Given the description of an element on the screen output the (x, y) to click on. 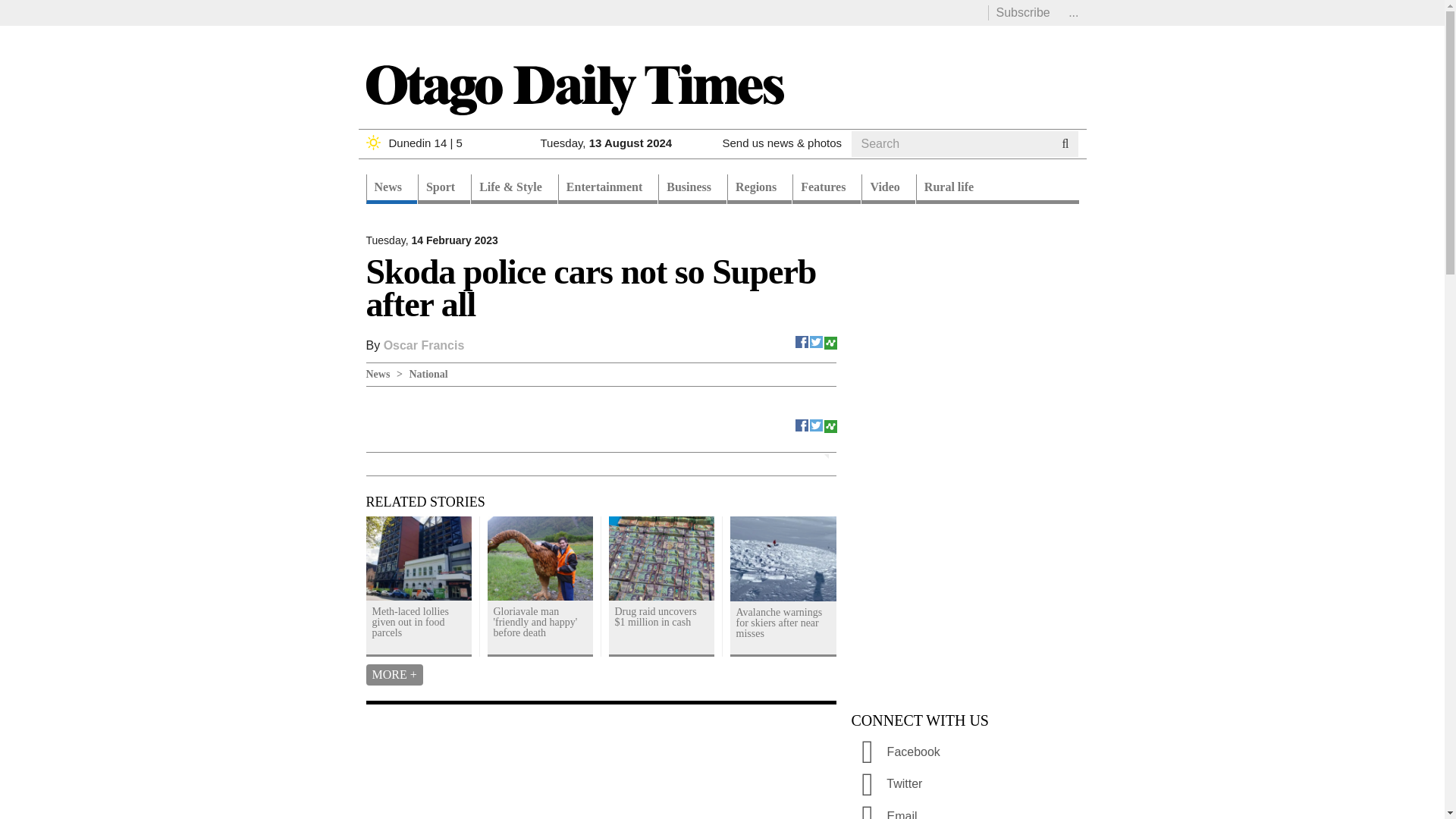
Home (574, 88)
Sport (443, 188)
ShareThis (829, 340)
Subscribe (1022, 11)
News (390, 188)
Twitter (816, 340)
Enter the terms you wish to search for. (951, 144)
Facebook (801, 340)
Twitter (816, 423)
